Given the description of an element on the screen output the (x, y) to click on. 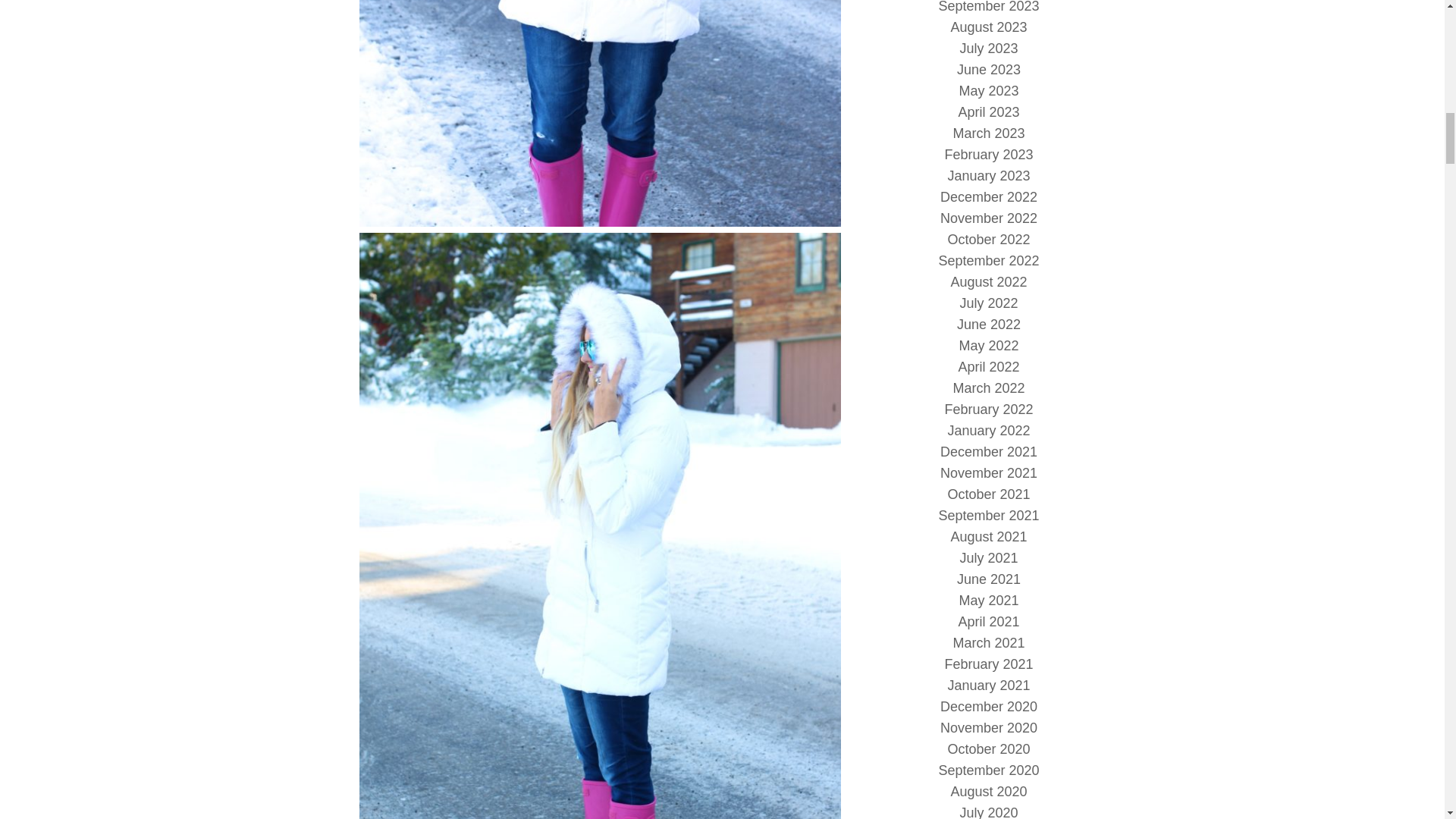
August 2023 (988, 27)
September 2023 (988, 6)
